Given the description of an element on the screen output the (x, y) to click on. 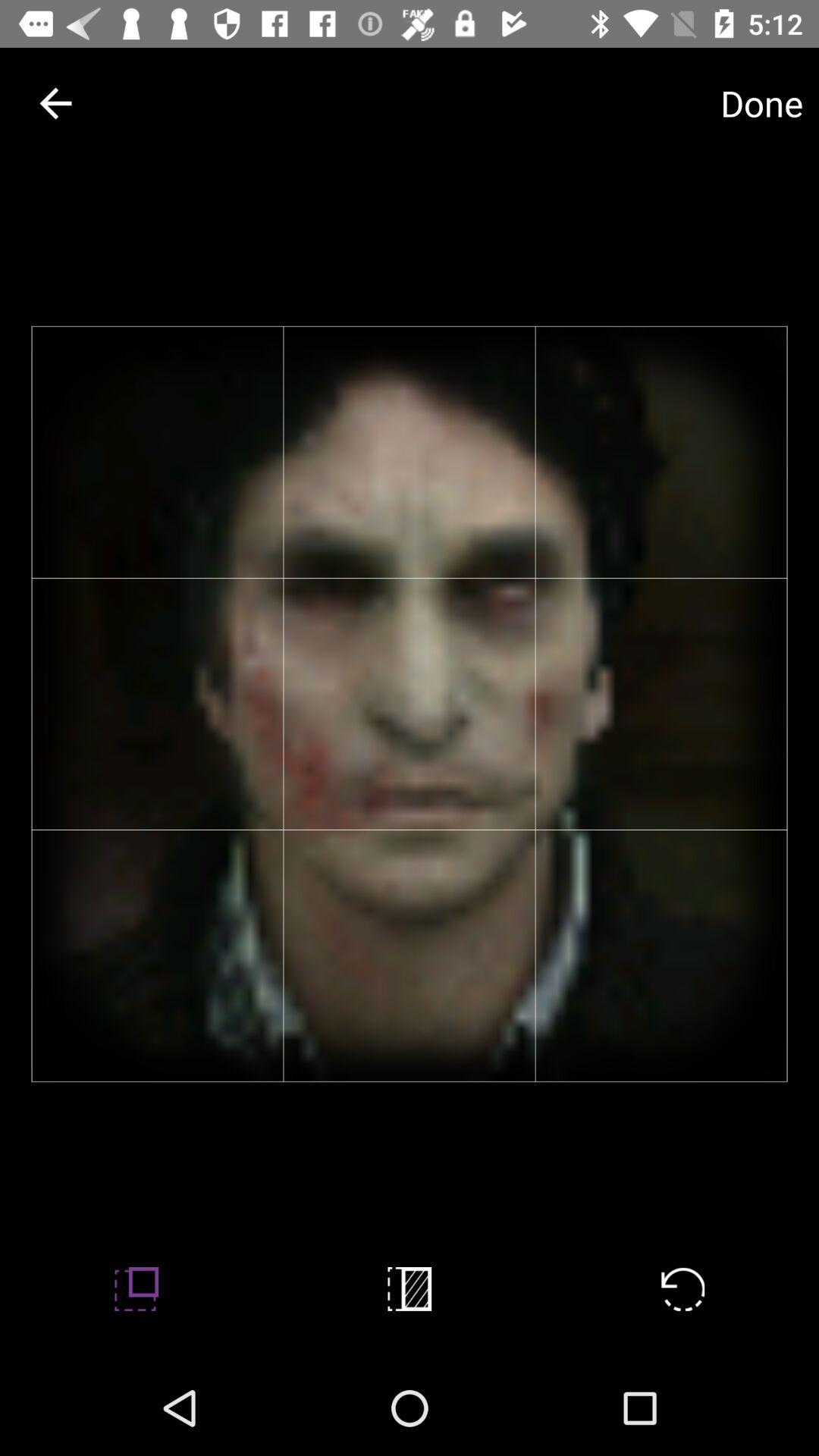
crop in horizontal part (409, 1288)
